Given the description of an element on the screen output the (x, y) to click on. 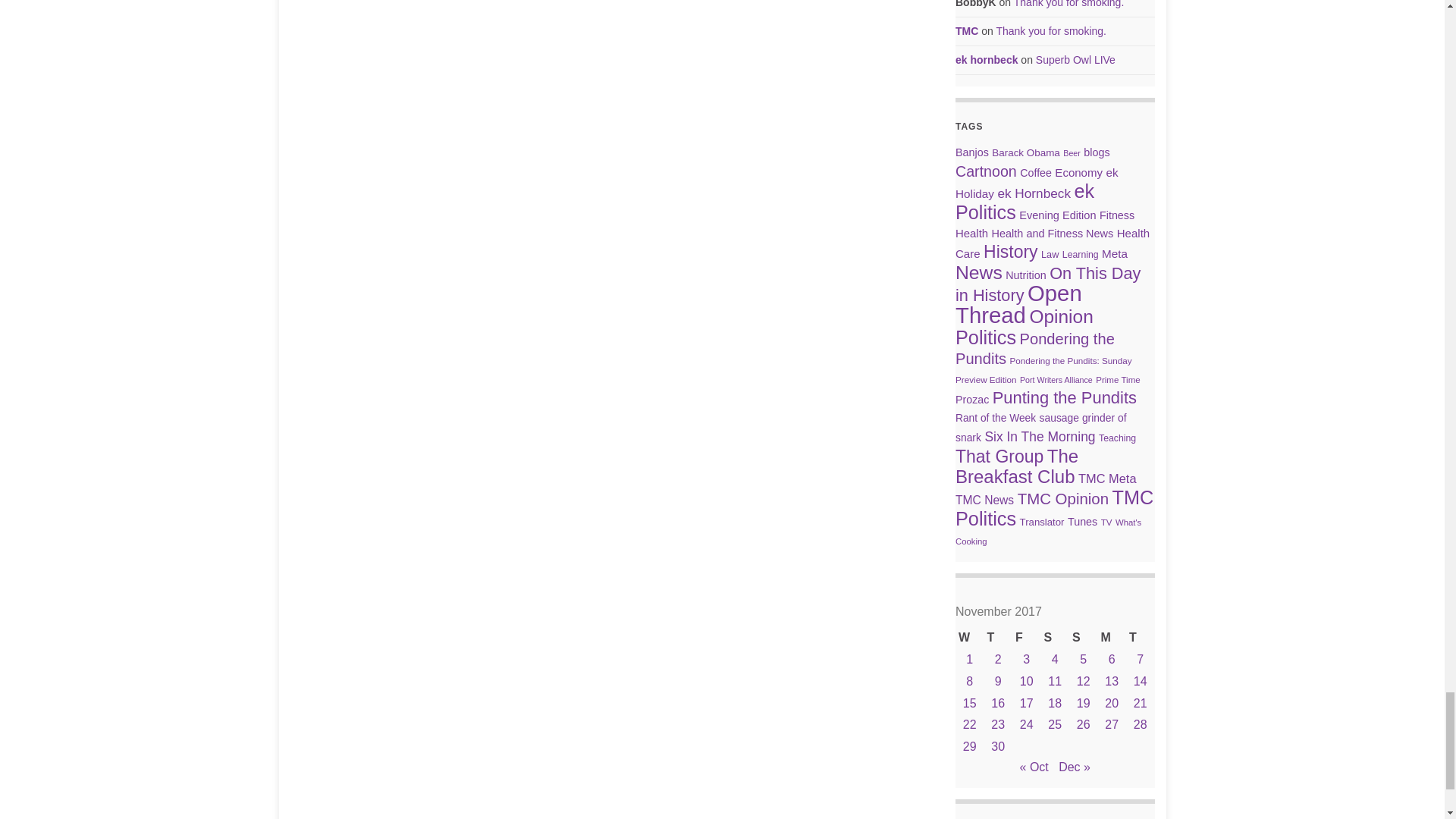
Saturday (1054, 638)
Thursday (998, 638)
Monday (1111, 638)
Tuesday (1139, 638)
Sunday (1082, 638)
Friday (1026, 638)
Wednesday (969, 638)
